Given the description of an element on the screen output the (x, y) to click on. 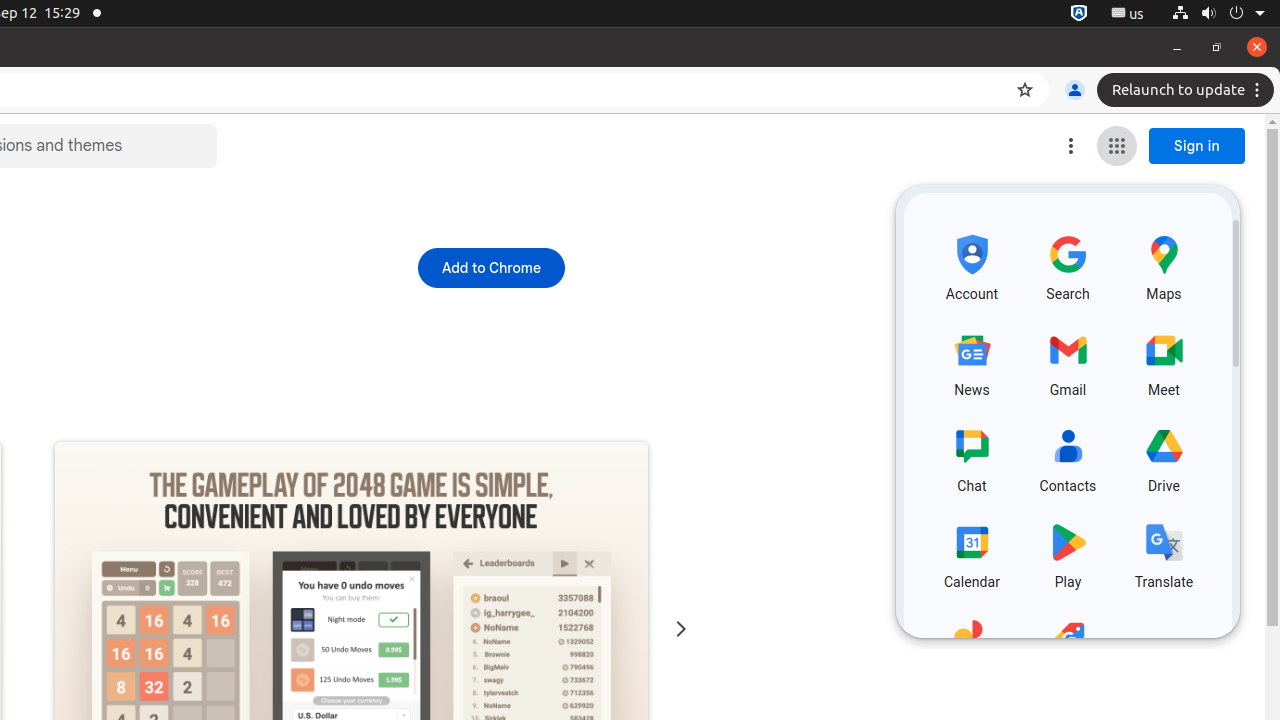
Add to Chrome Element type: push-button (491, 268)
Photos, row 5 of 5 and column 1 of 3 in the first section (opens a new tab) Element type: link (972, 649)
Next slide Element type: push-button (680, 629)
Translate, row 4 of 5 and column 3 of 3 in the first section (opens a new tab) Element type: link (1164, 553)
News, row 2 of 5 and column 1 of 3 in the first section (opens a new tab) Element type: link (972, 361)
